Given the description of an element on the screen output the (x, y) to click on. 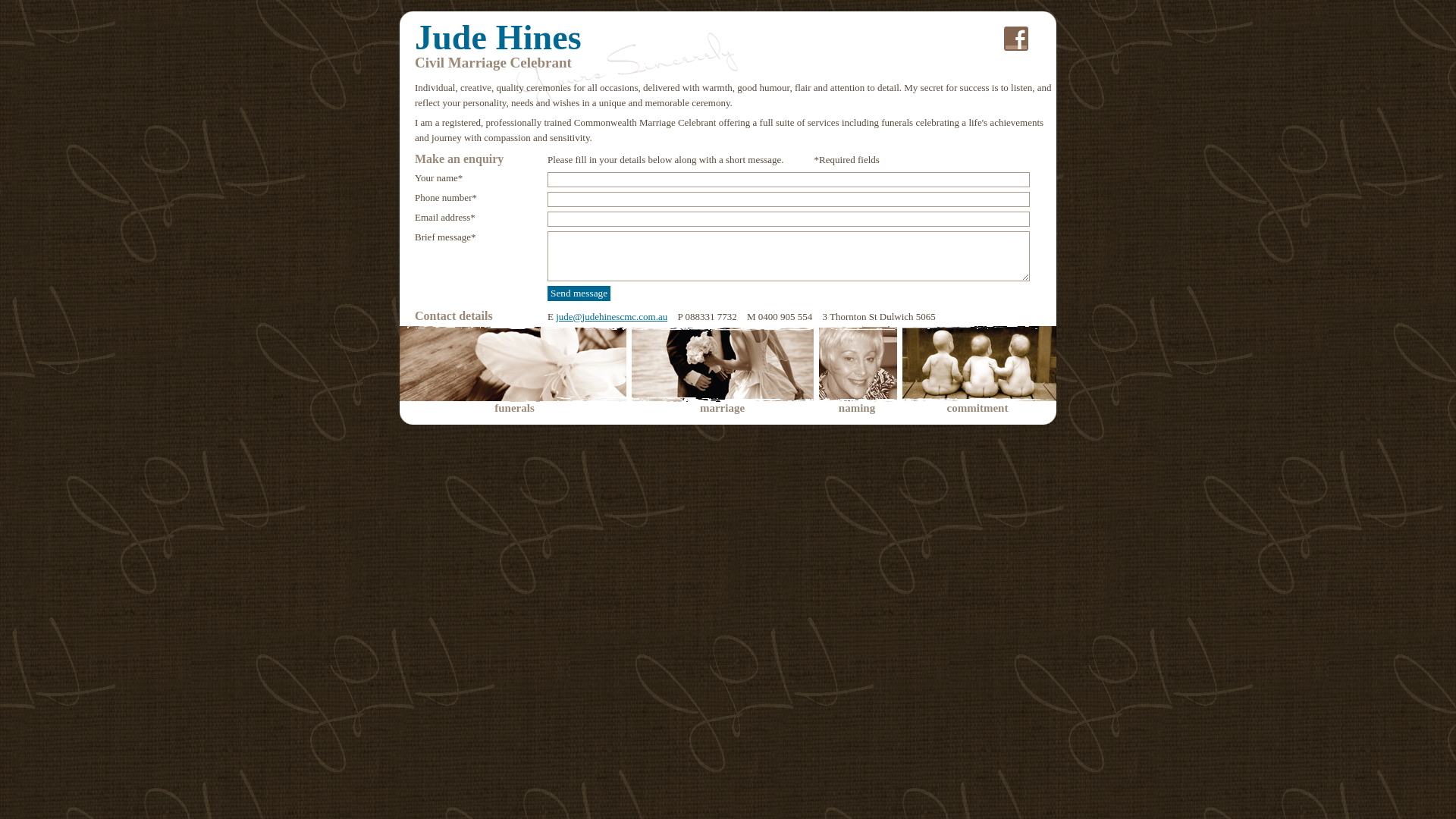
jude@judehinescmc.com.au Element type: text (611, 316)
yours sincerely Element type: hover (626, 64)
. Element type: text (1016, 38)
Send message Element type: text (578, 292)
